Given the description of an element on the screen output the (x, y) to click on. 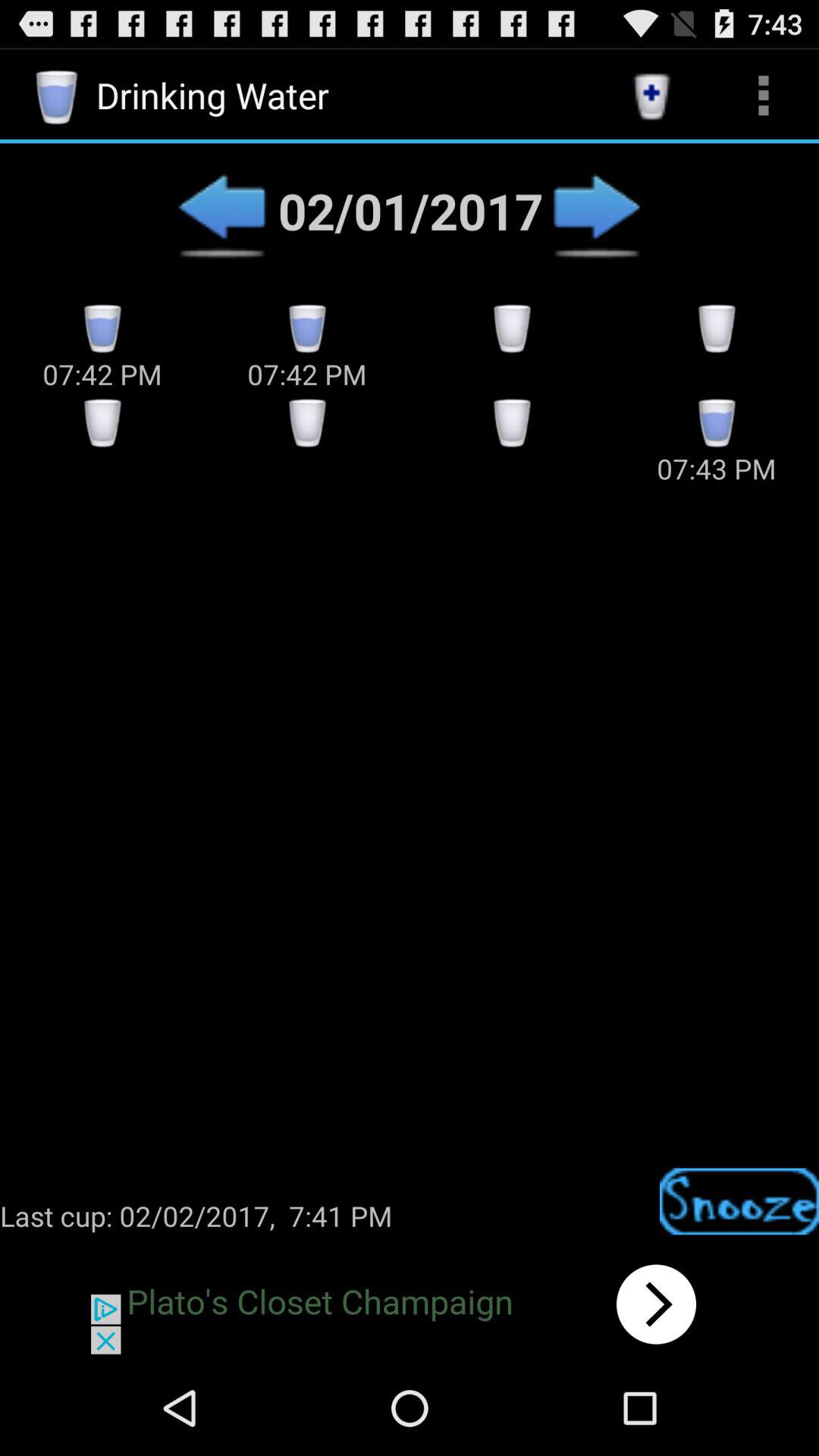
plato closet champaign button (409, 1304)
